Given the description of an element on the screen output the (x, y) to click on. 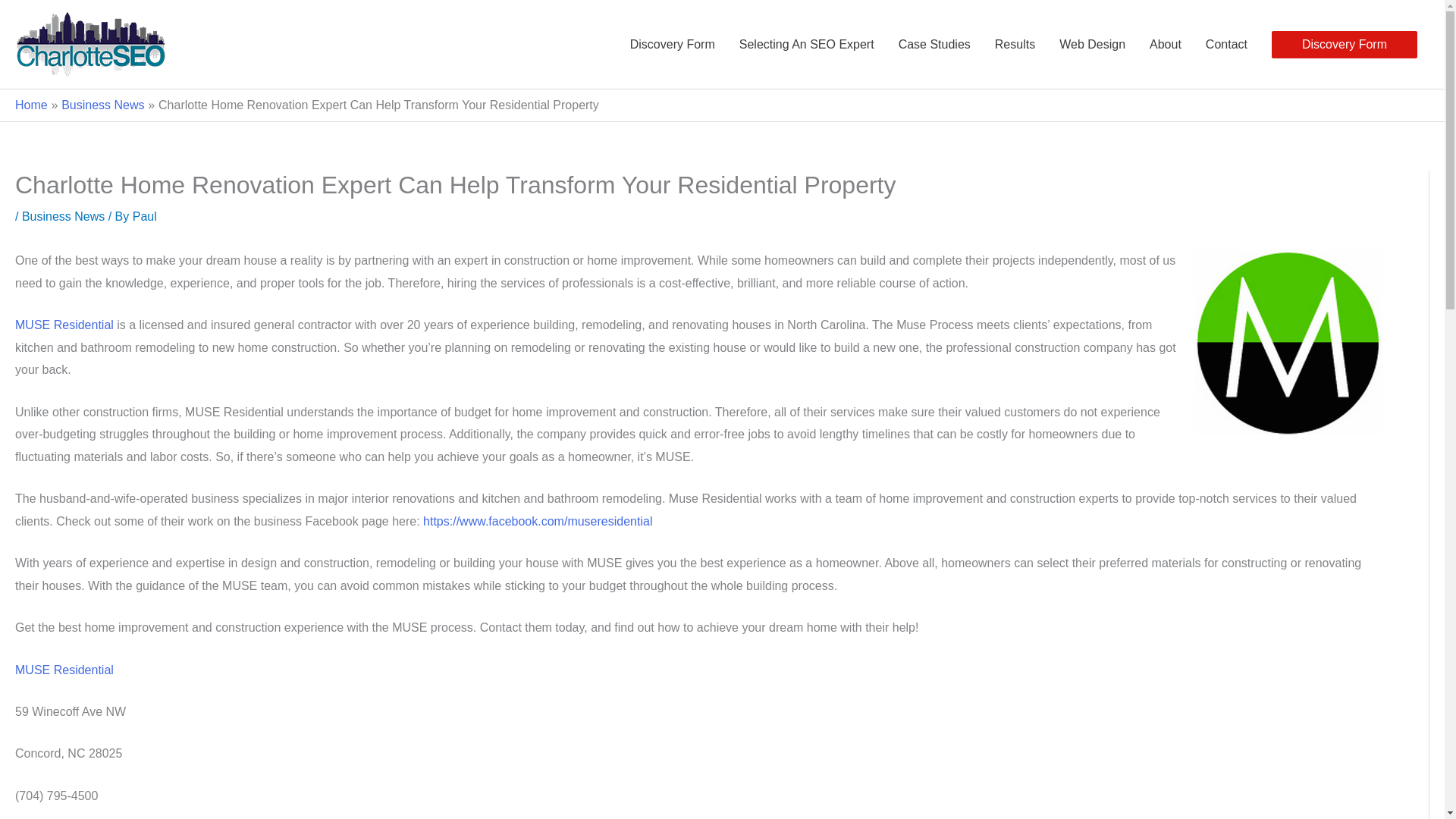
Discovery Form (1343, 43)
Contact (1226, 43)
Results (1014, 43)
Web Design (1091, 43)
About (1165, 43)
Business News (102, 104)
View all posts by Paul (144, 215)
Home (31, 104)
Case Studies (934, 43)
Business News (62, 215)
